Given the description of an element on the screen output the (x, y) to click on. 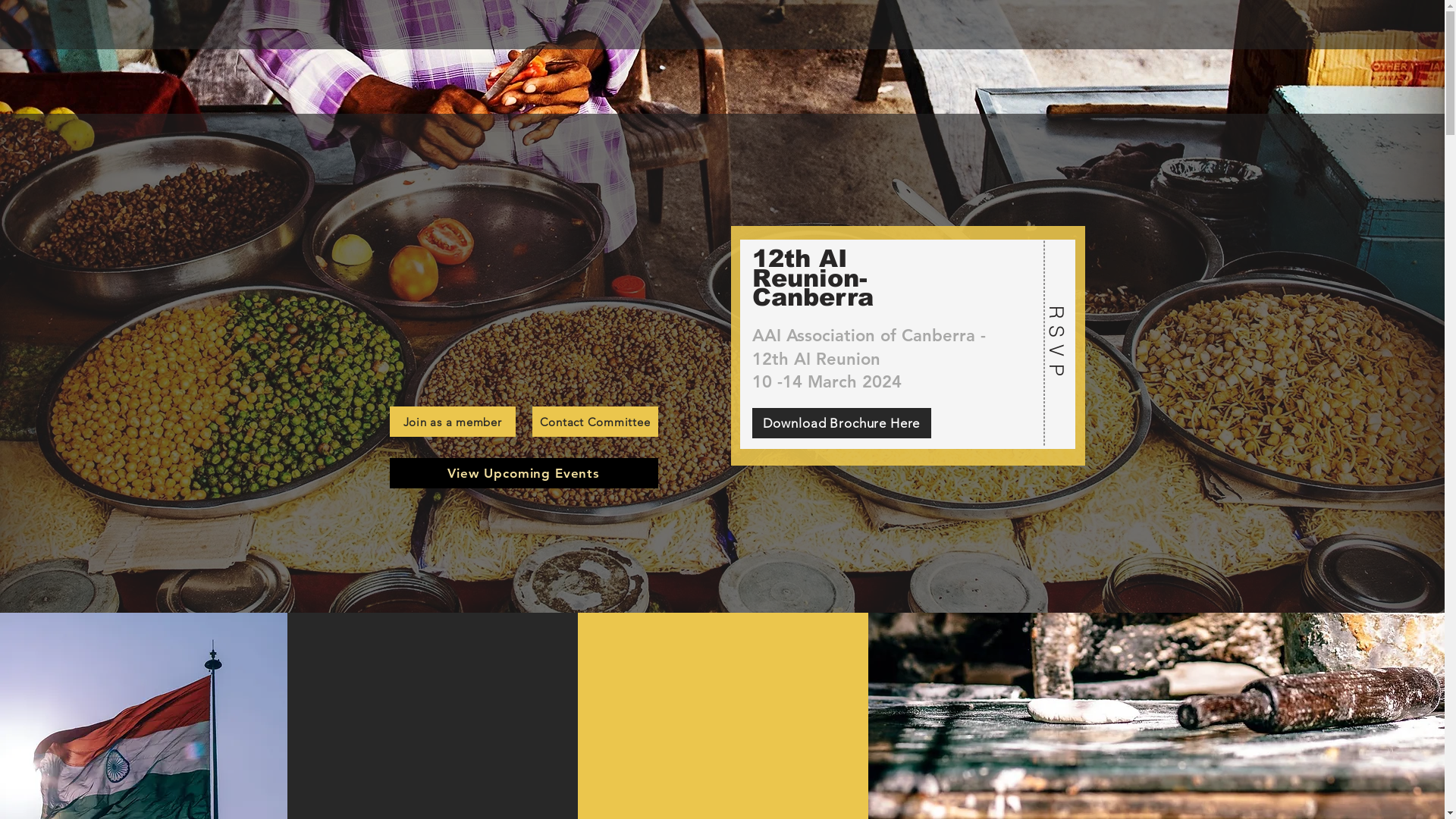
Download Brochure Here Element type: text (841, 422)
Join as a member Element type: text (452, 421)
View Upcoming Events Element type: text (523, 473)
Contact Committee Element type: text (595, 421)
